Given the description of an element on the screen output the (x, y) to click on. 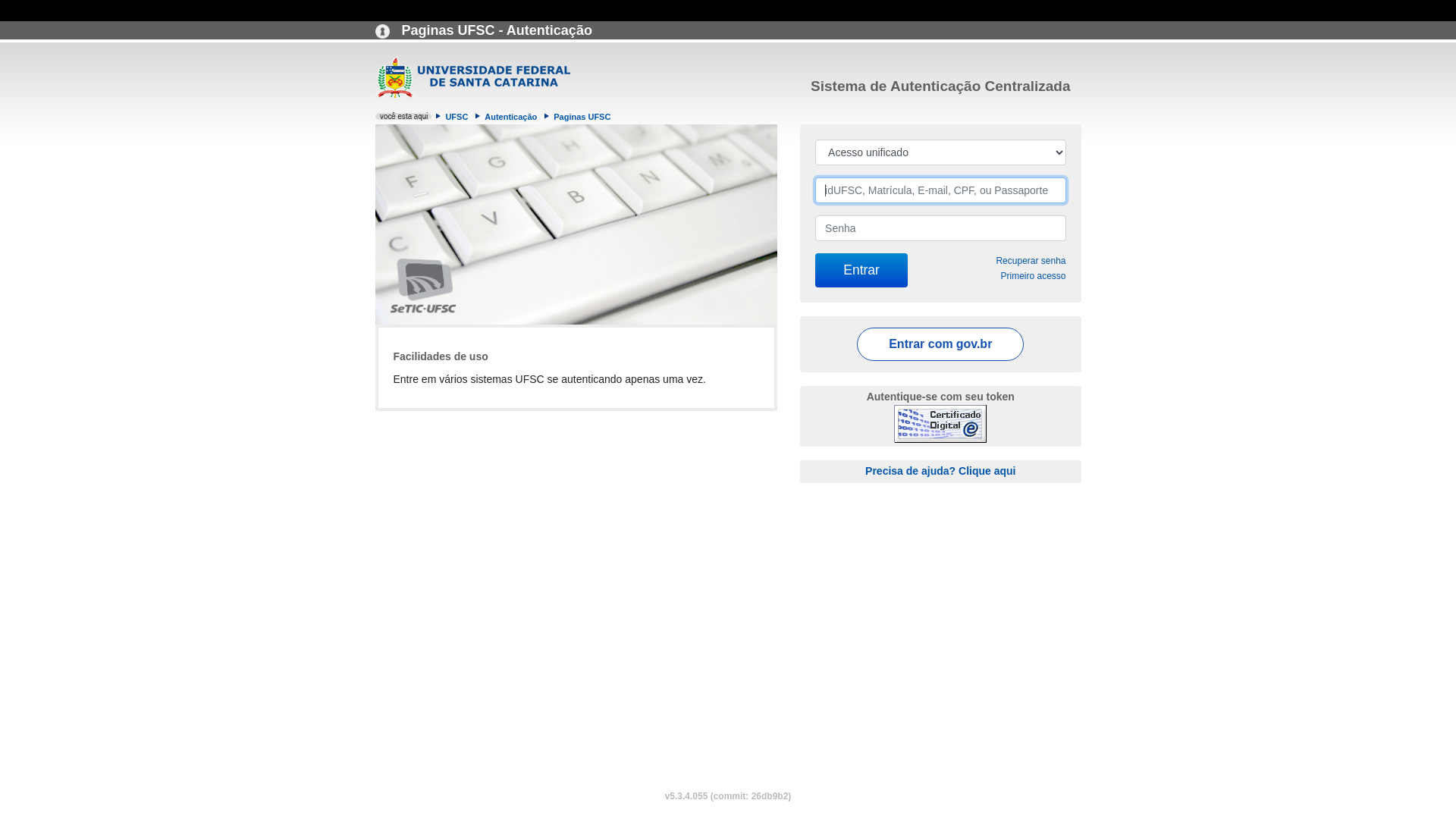
UFSC Element type: text (456, 116)
Recuperar senha Element type: text (1030, 260)
Primeiro acesso Element type: text (1032, 275)
Entrar Element type: text (861, 270)
Paginas UFSC Element type: text (581, 116)
Precisa de ajuda? Clique aqui Element type: text (940, 470)
Entrar com
gov.br Element type: text (939, 343)
